Given the description of an element on the screen output the (x, y) to click on. 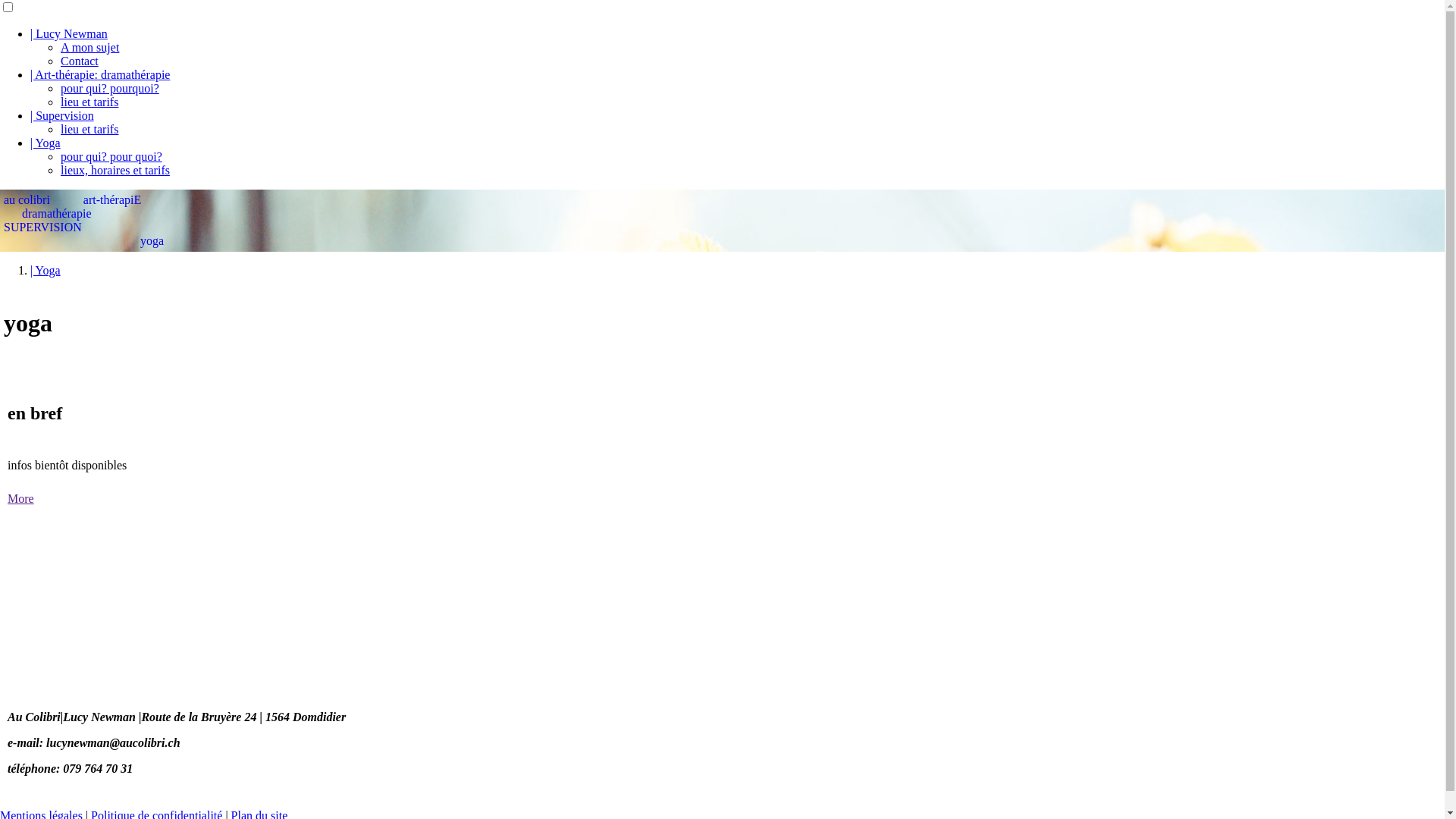
| Supervision Element type: text (62, 115)
Contact Element type: text (79, 60)
pour qui? pour quoi? Element type: text (111, 156)
lieu et tarifs Element type: text (89, 101)
lieu et tarifs Element type: text (89, 128)
| Yoga Element type: text (45, 269)
A mon sujet Element type: text (89, 46)
pour qui? pourquoi? Element type: text (109, 87)
lieux, horaires et tarifs Element type: text (114, 169)
| Lucy Newman Element type: text (68, 33)
| Yoga Element type: text (45, 142)
More Element type: text (20, 498)
